Given the description of an element on the screen output the (x, y) to click on. 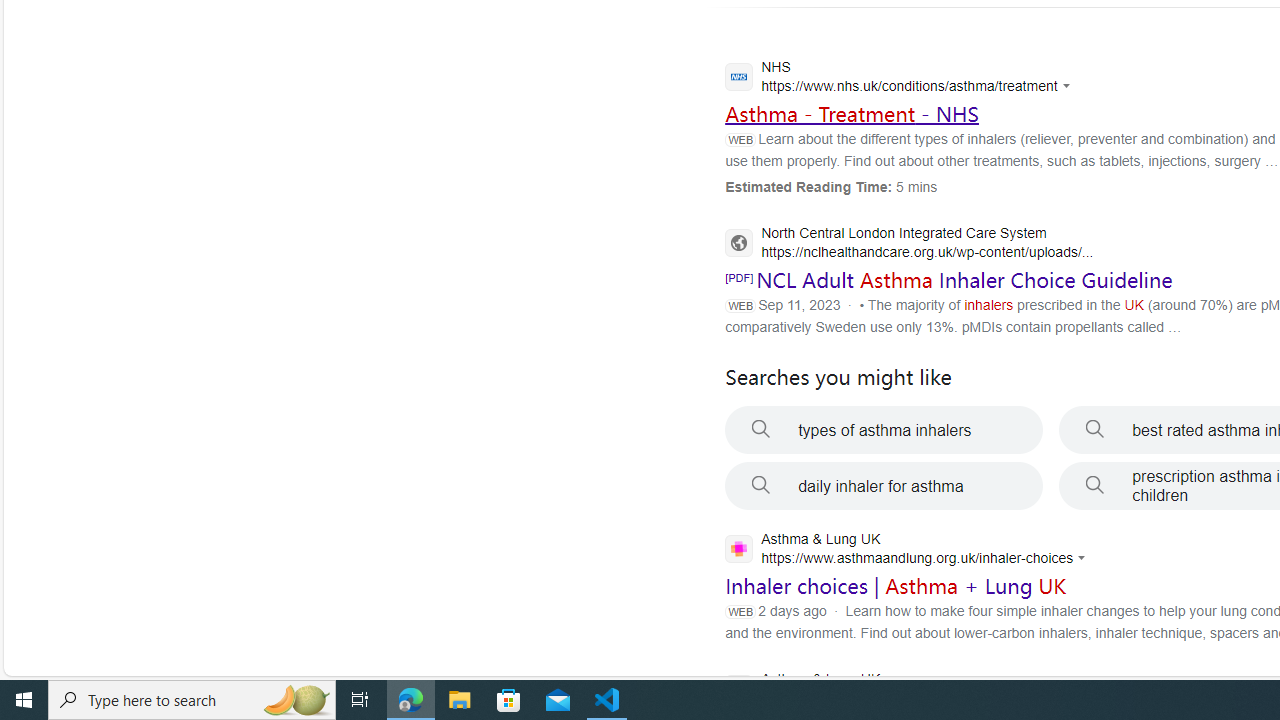
NHS (902, 79)
North Central London Integrated Care System (909, 244)
Asthma - Treatment - NHS (851, 113)
Estimated Reading Time: 5 mins (831, 186)
daily inhaler for asthma (884, 485)
Global web icon (738, 548)
types of asthma inhalers (884, 430)
daily inhaler for asthma (884, 485)
Asthma & Lung UK (902, 691)
NCL Adult Asthma Inhaler Choice Guideline (964, 280)
types of asthma inhalers (884, 430)
Inhaler choices | Asthma + Lung UK (895, 586)
Actions for this site (1084, 557)
